Given the description of an element on the screen output the (x, y) to click on. 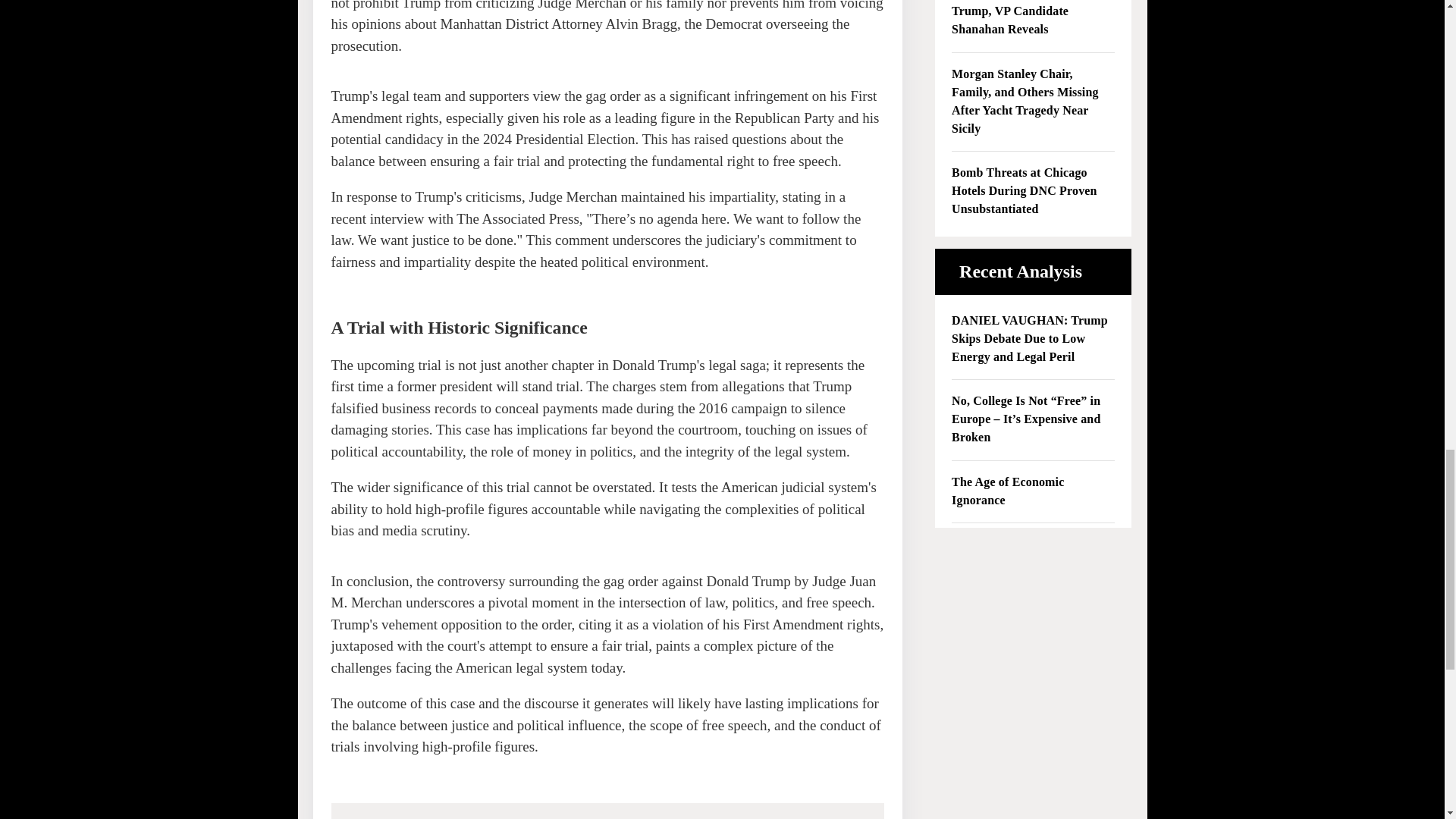
The Age of Economic Ignorance (1033, 492)
